Given the description of an element on the screen output the (x, y) to click on. 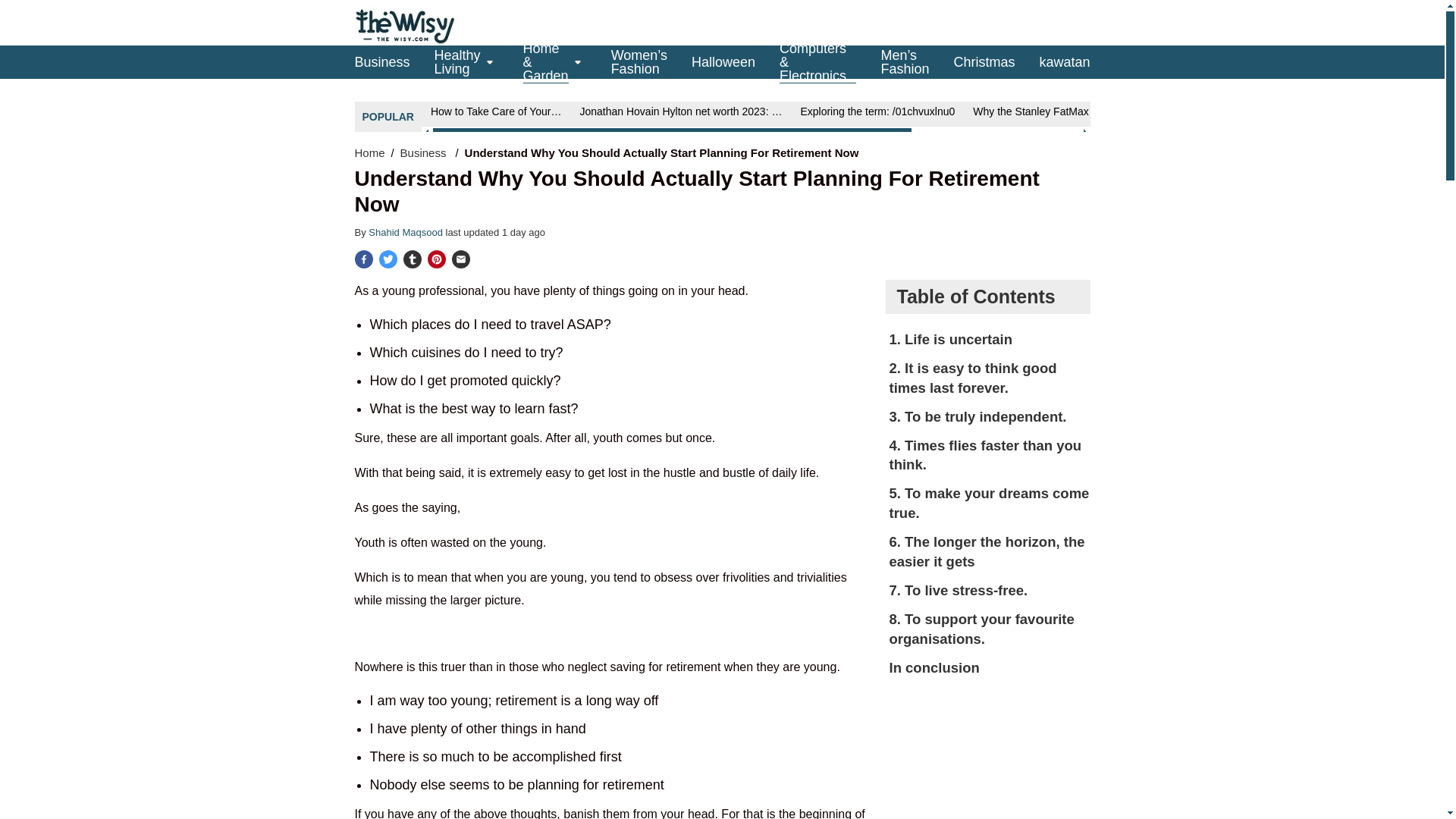
2. It is easy to think good times last forever.  (988, 377)
Business (424, 152)
kawatan (1064, 61)
Home (370, 152)
Halloween (723, 61)
Business (382, 61)
Christmas (983, 61)
1. Life is uncertain  (988, 339)
Healthy Living (456, 62)
Shahid Maqsood (406, 232)
